Given the description of an element on the screen output the (x, y) to click on. 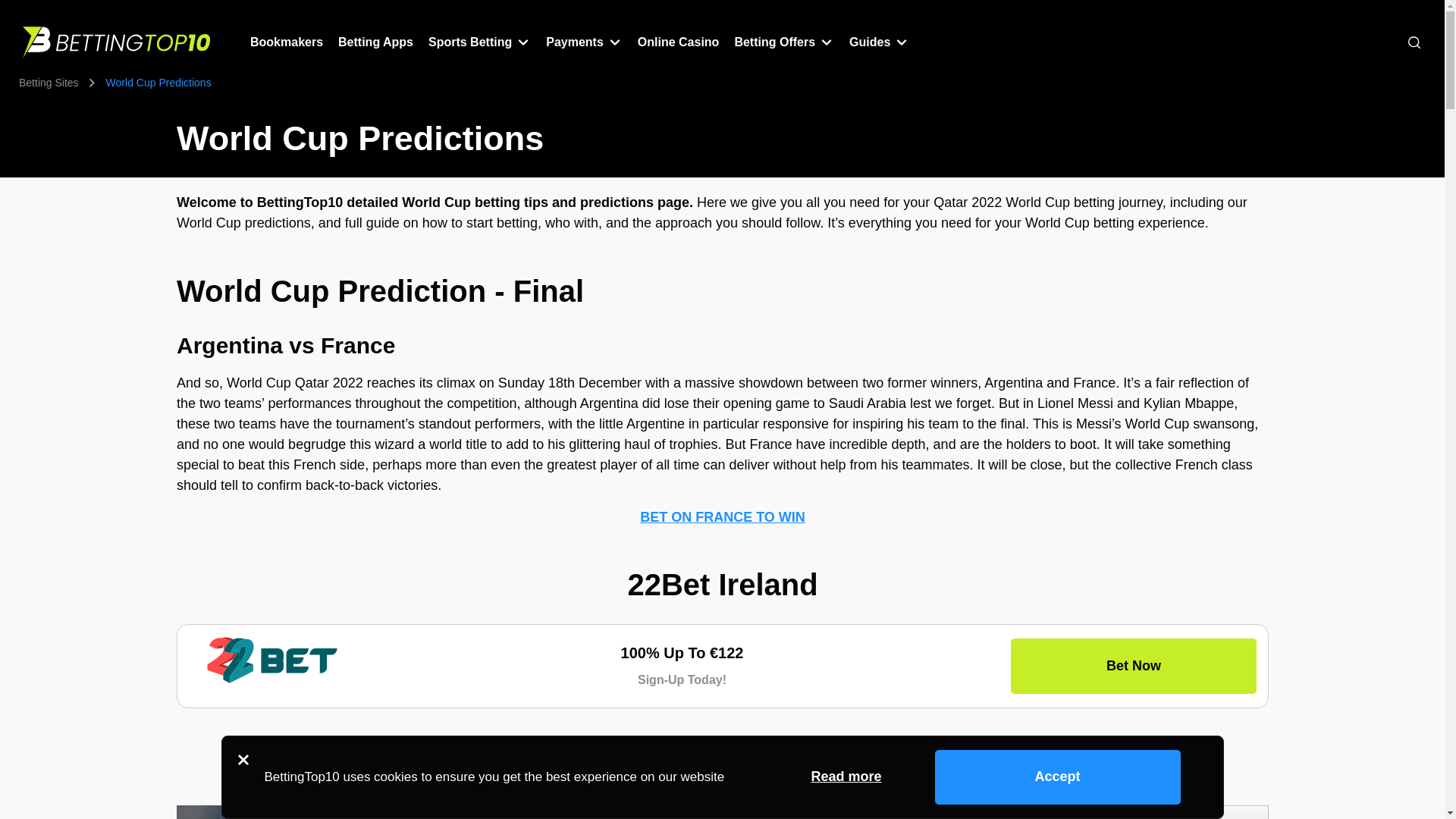
22bet (271, 659)
Bookmakers (286, 42)
BetiingTop10 Logo (117, 41)
Betting Apps (375, 42)
